Given the description of an element on the screen output the (x, y) to click on. 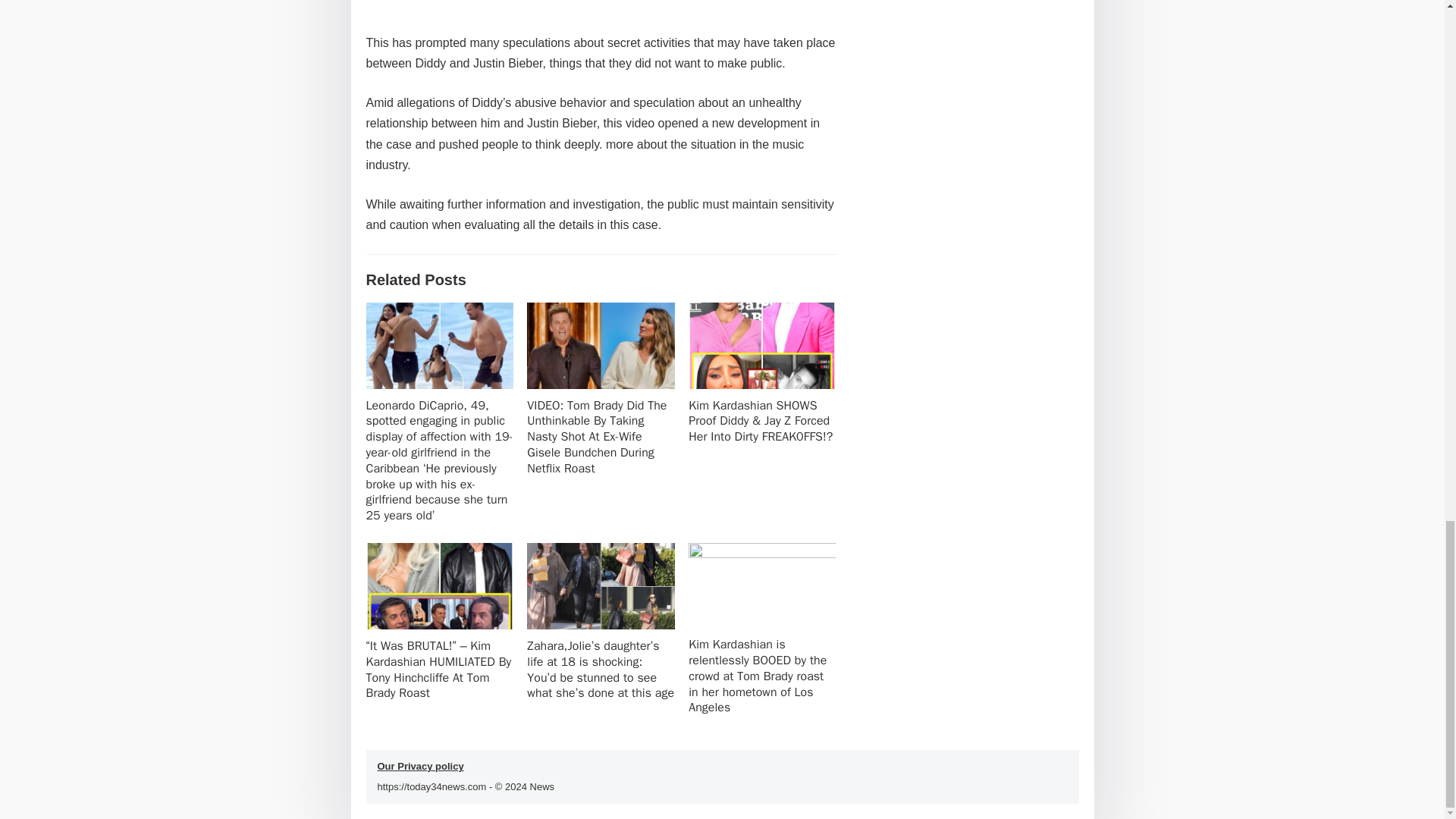
Our Privacy policy (420, 766)
SHOCKING: Diddy's Stark Warning to Justin Bieber Revealed! (600, 3)
